Given the description of an element on the screen output the (x, y) to click on. 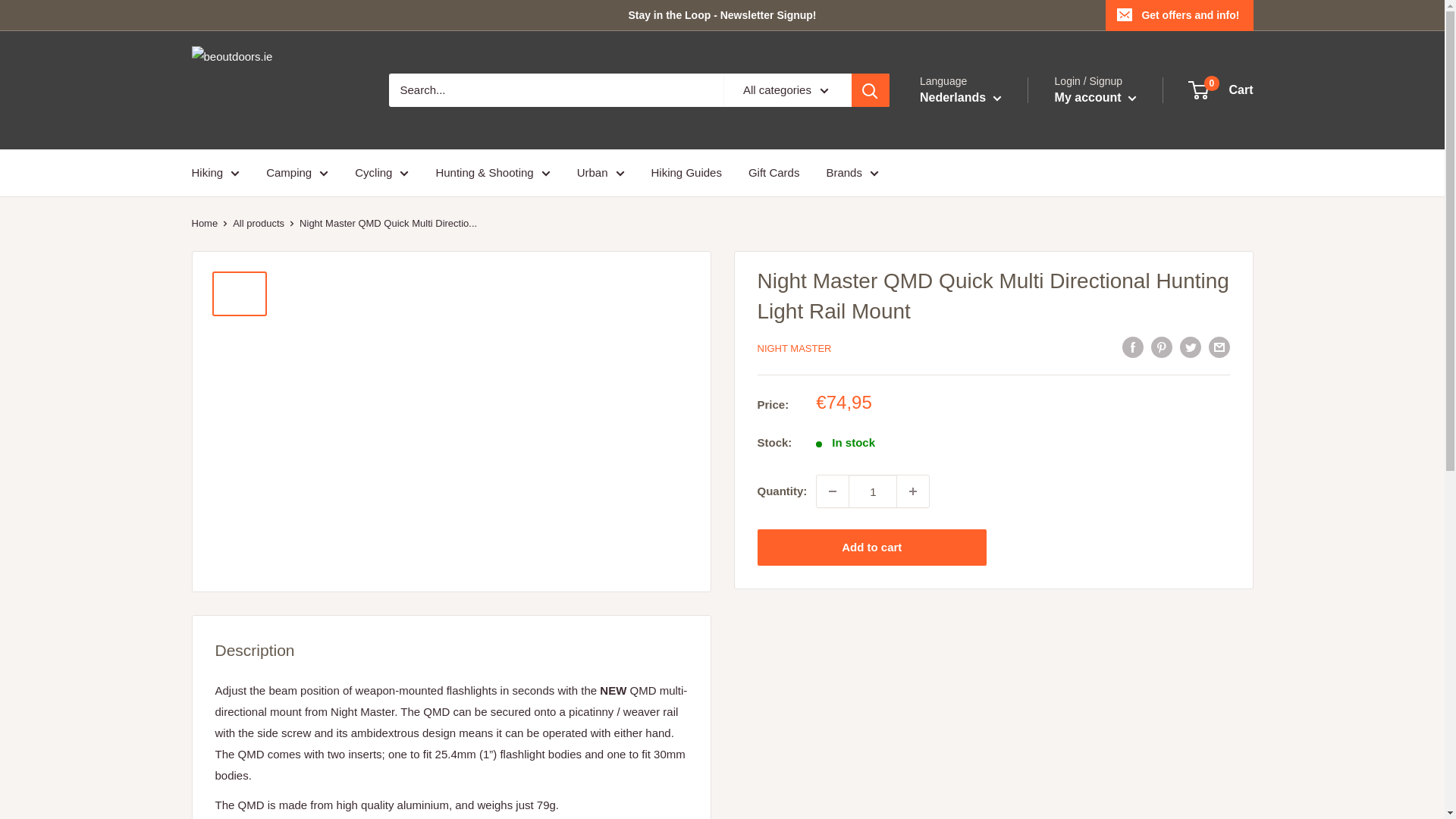
Stay in the Loop - Newsletter Signup! (647, 15)
1 (872, 490)
Get offers and info! (1178, 15)
Decrease quantity by 1 (832, 490)
Increase quantity by 1 (912, 490)
